Given the description of an element on the screen output the (x, y) to click on. 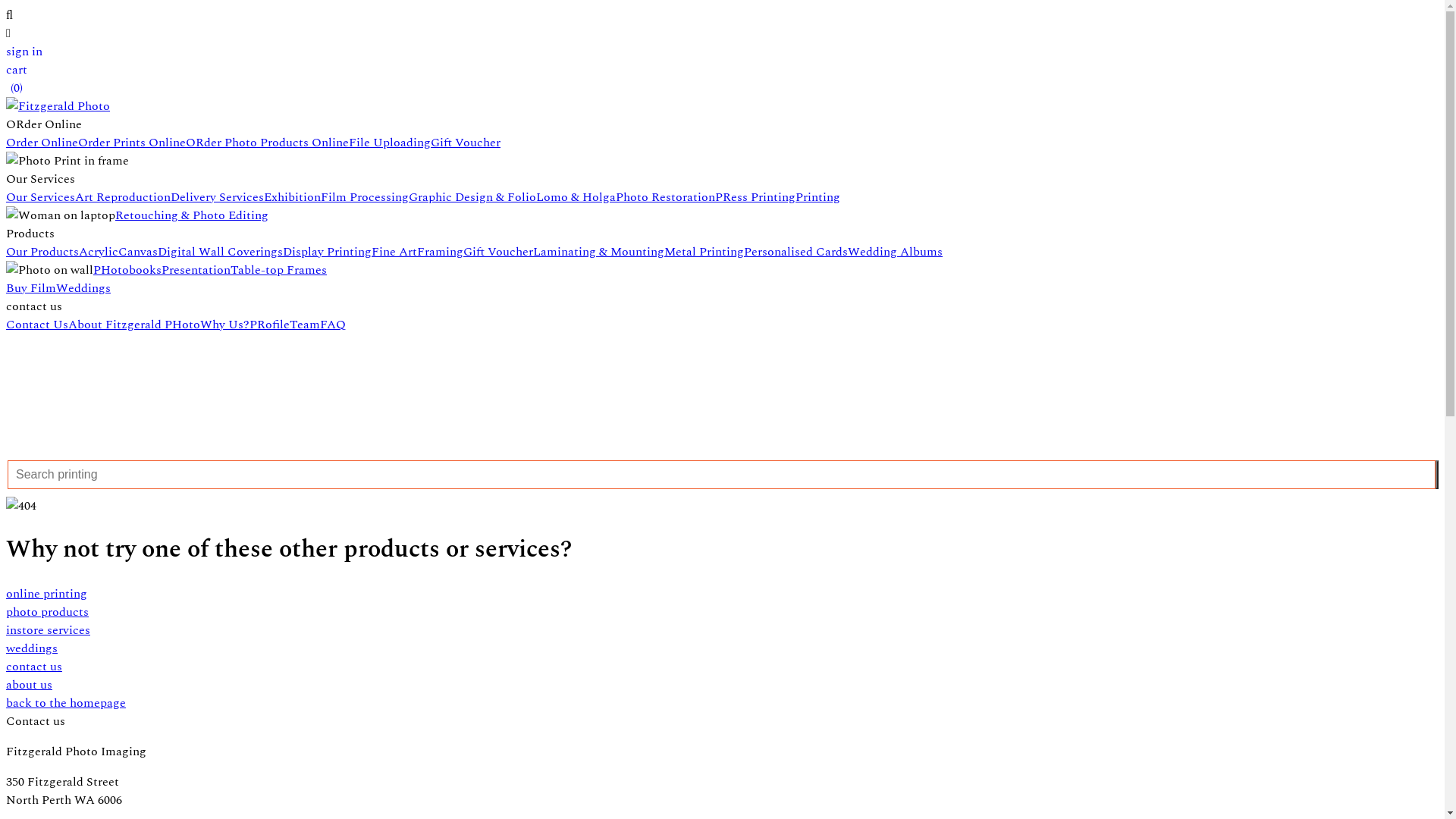
photo products Element type: text (722, 611)
Order Online Element type: text (42, 142)
About Fitzgerald PHoto Element type: text (134, 324)
Gift Voucher Element type: text (465, 142)
cart
(0) Element type: text (16, 78)
Our Services Element type: text (40, 197)
PRofile Element type: text (269, 324)
Retouching & Photo Editing Element type: text (191, 215)
PRess Printing Element type: text (755, 197)
sign in Element type: text (24, 51)
about us Element type: text (722, 684)
Digital Wall Coverings Element type: text (219, 251)
PHotobooks Element type: text (127, 269)
Photo Restoration Element type: text (665, 197)
Framing Element type: text (440, 251)
Store Map Element type: hover (722, 390)
Our Products Element type: text (42, 251)
Contact Us Element type: text (37, 324)
Order Prints Online Element type: text (131, 142)
Table-top Frames Element type: text (278, 269)
Presentation Element type: text (195, 269)
Exhibition Element type: text (291, 197)
File Uploading Element type: text (389, 142)
Buy Film Element type: text (31, 288)
FAQ Element type: text (332, 324)
Gift Voucher Element type: text (498, 251)
instore services Element type: text (722, 630)
Wedding Albums Element type: text (894, 251)
Canvas Element type: text (137, 251)
Film Processing Element type: text (364, 197)
Printing Element type: text (817, 197)
back to the homepage Element type: text (722, 702)
contact us Element type: text (722, 666)
Team Element type: text (304, 324)
weddings Element type: text (722, 648)
Lomo & Holga Element type: text (575, 197)
Display Printing Element type: text (326, 251)
Art Reproduction Element type: text (122, 197)
ORder Photo Products Online Element type: text (266, 142)
Metal Printing Element type: text (703, 251)
Personalised Cards Element type: text (795, 251)
Why Us? Element type: text (224, 324)
Delivery Services Element type: text (216, 197)
Graphic Design & Folio Element type: text (472, 197)
Weddings Element type: text (83, 288)
online printing Element type: text (722, 593)
Fine Art Element type: text (394, 251)
Laminating & Mounting Element type: text (598, 251)
Acrylic Element type: text (98, 251)
